Given the description of an element on the screen output the (x, y) to click on. 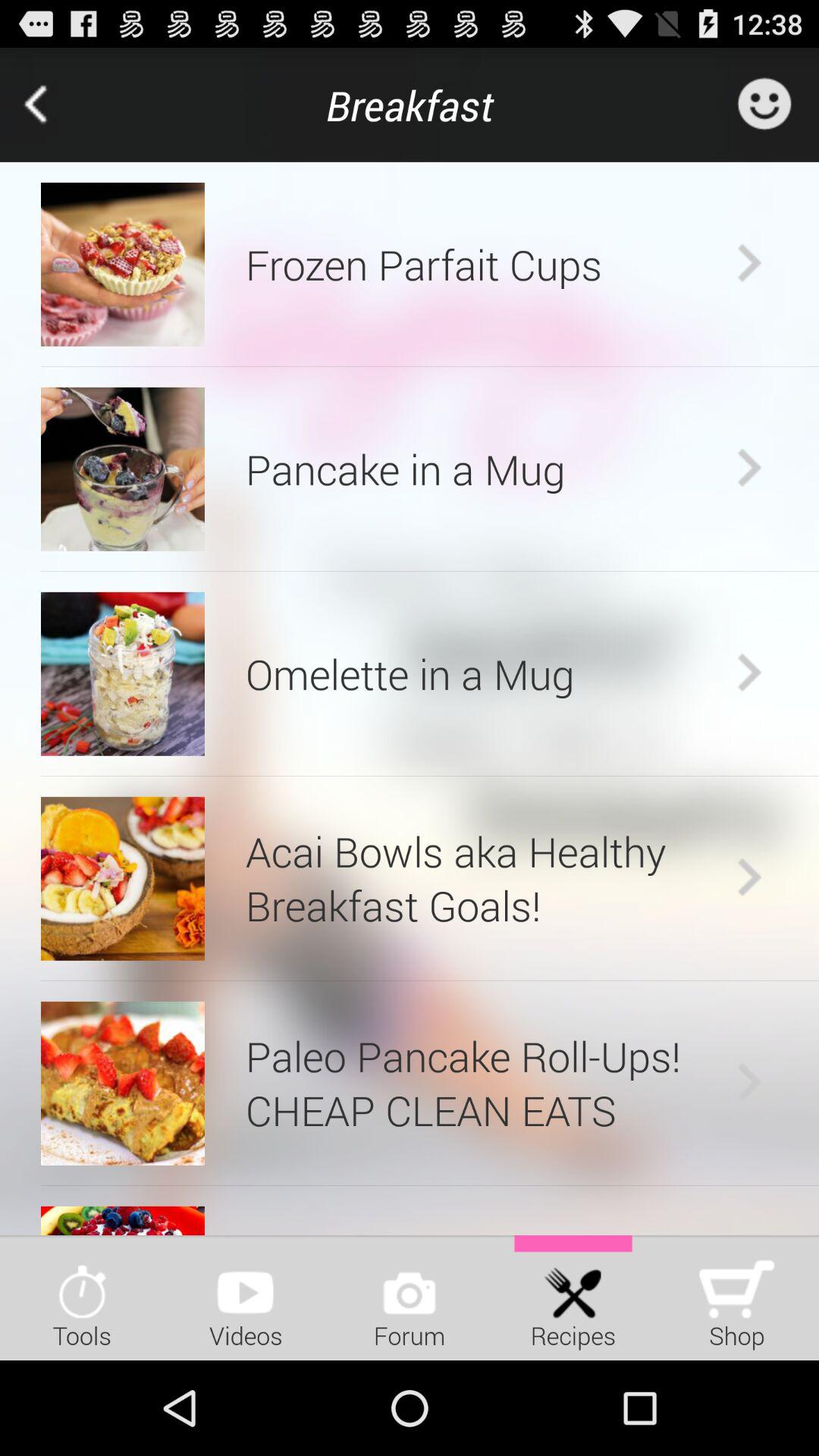
turn on frozen parfait cups app (486, 264)
